Given the description of an element on the screen output the (x, y) to click on. 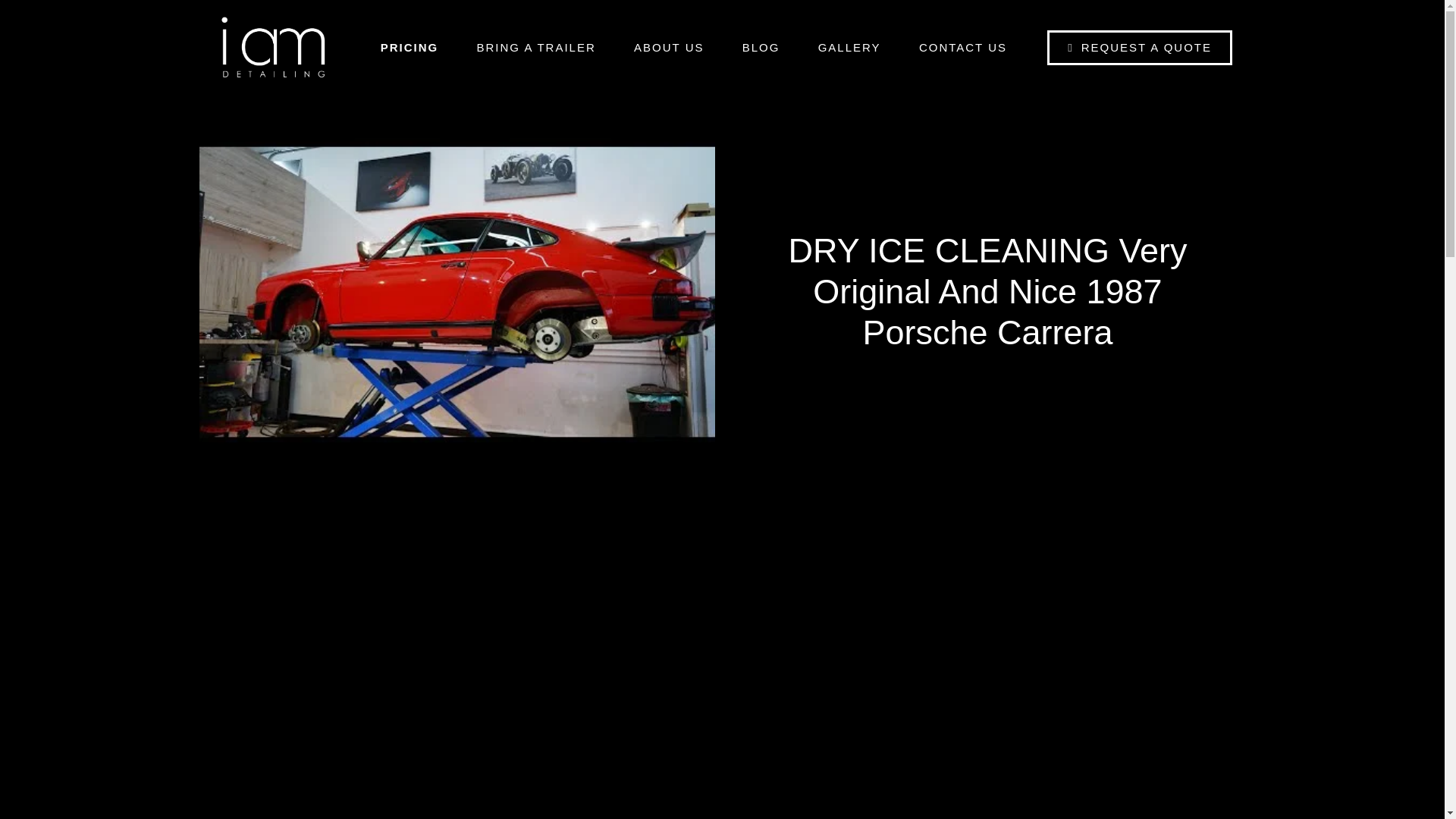
REQUEST A QUOTE (1138, 47)
PRICING (409, 47)
CONTACT US (962, 47)
GALLERY (849, 47)
BRING A TRAILER (535, 47)
ABOUT US (668, 47)
BLOG (761, 47)
